Given the description of an element on the screen output the (x, y) to click on. 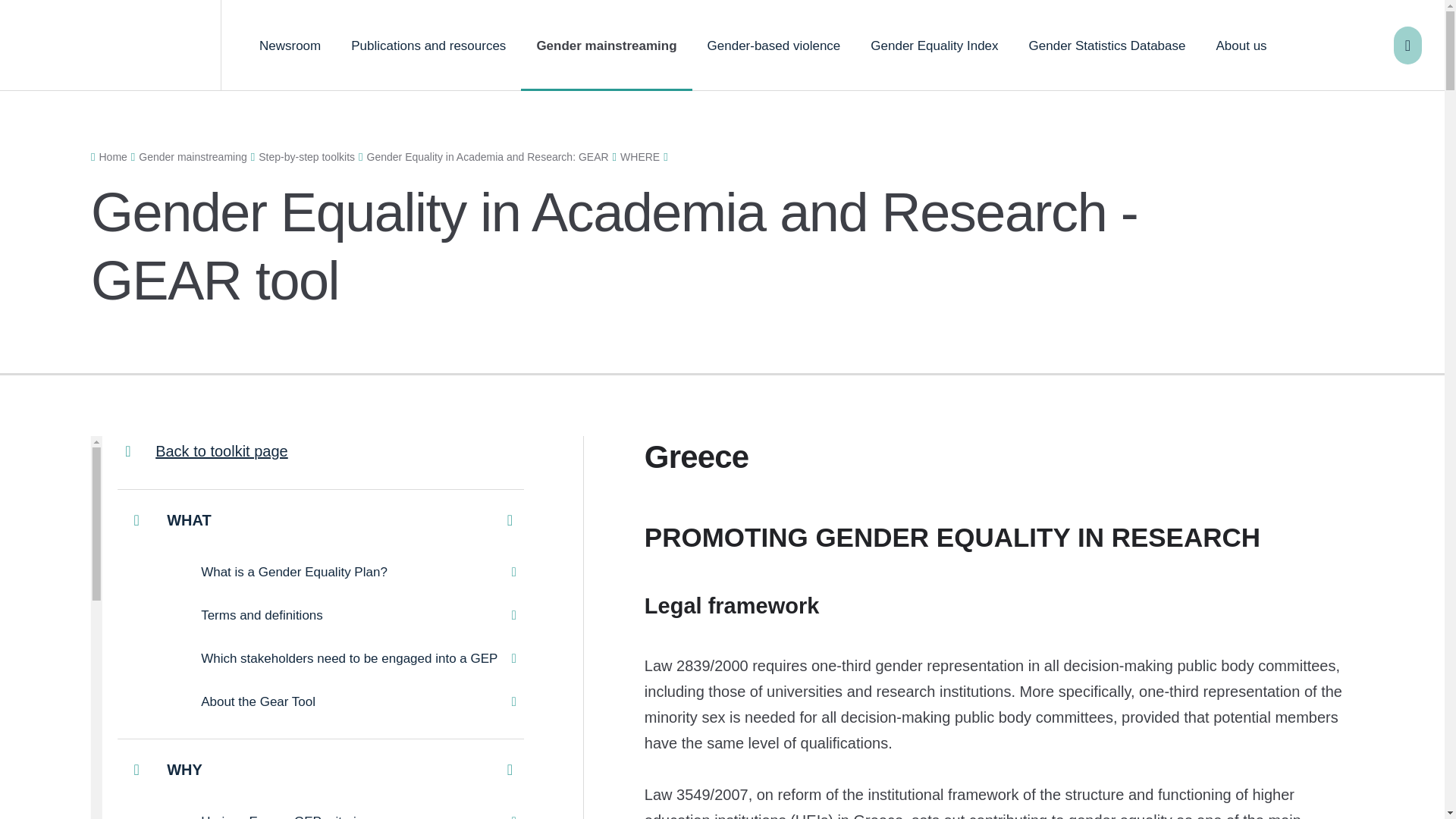
Gender mainstreaming (606, 45)
Publications and resources (428, 45)
Newsroom (290, 45)
European Institute for Gender Equality (110, 45)
